Given the description of an element on the screen output the (x, y) to click on. 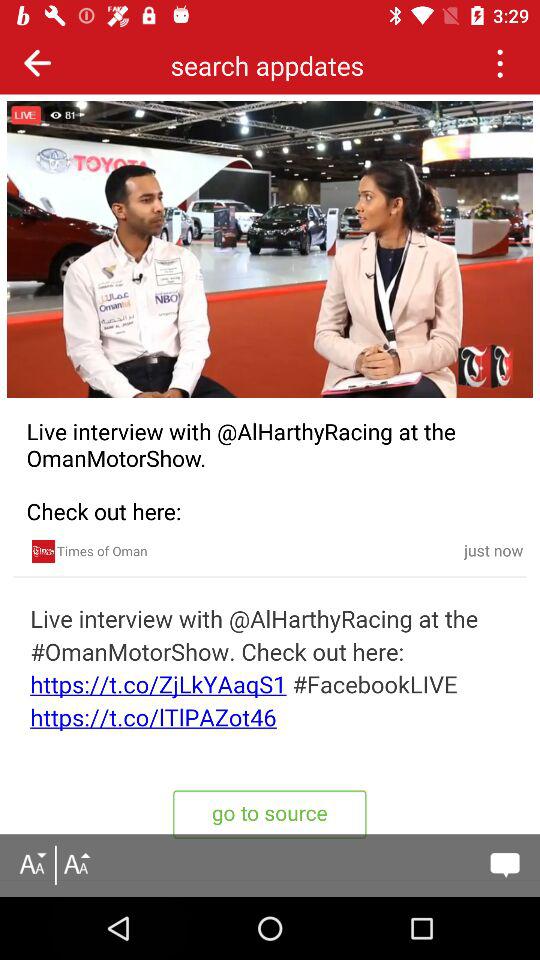
go to previous (499, 62)
